Given the description of an element on the screen output the (x, y) to click on. 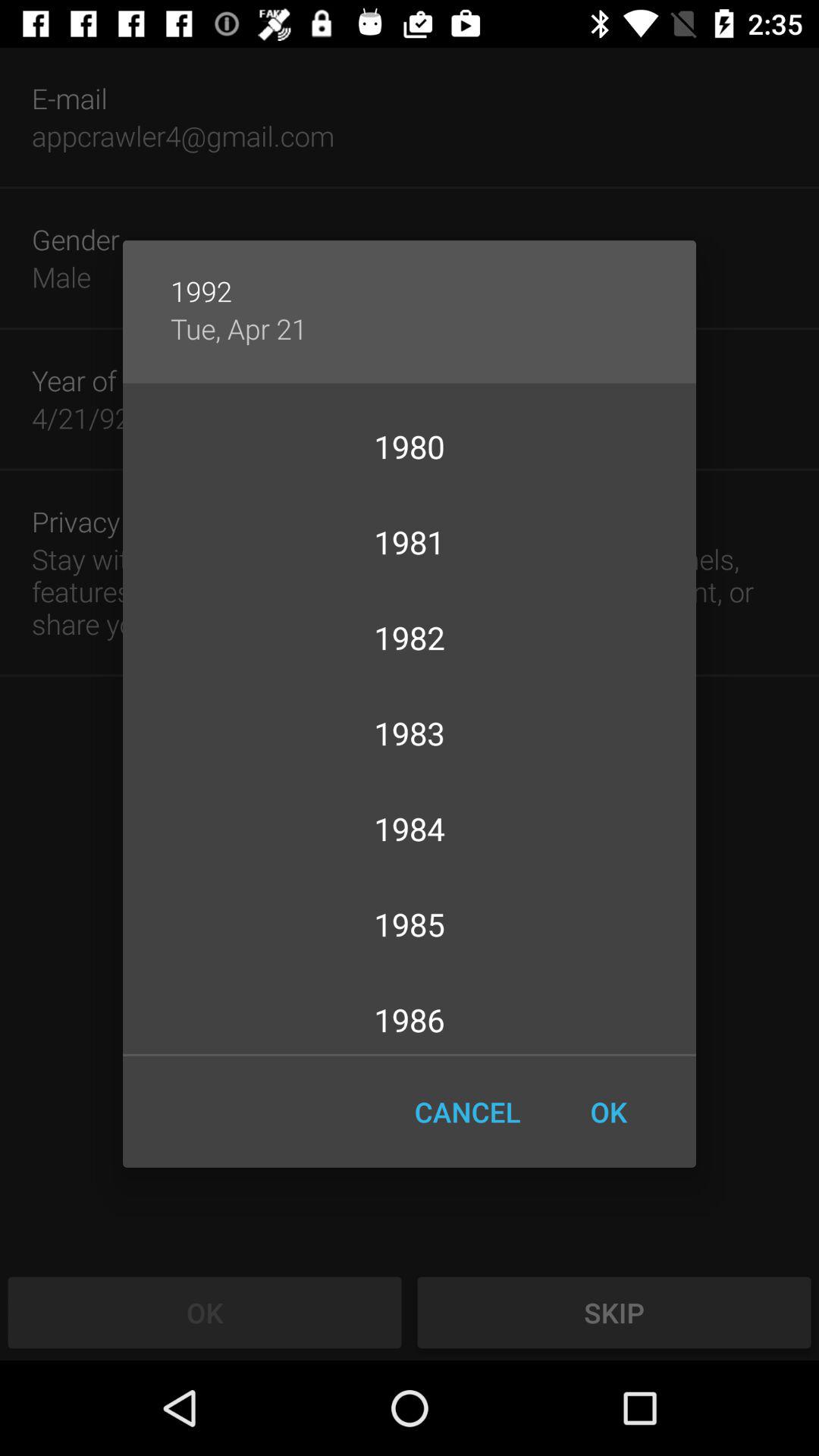
turn off app below the 1992 app (238, 328)
